Given the description of an element on the screen output the (x, y) to click on. 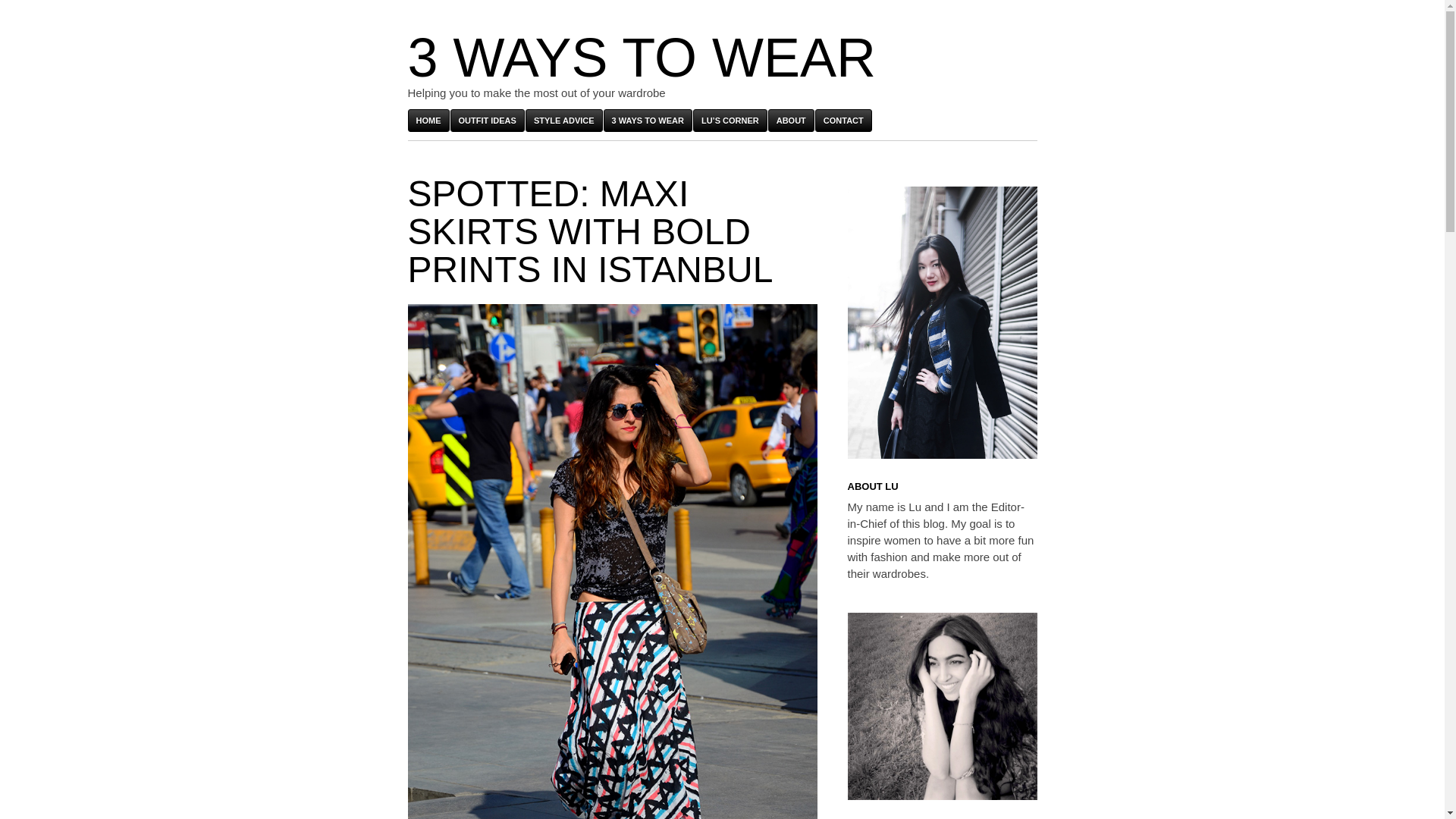
ABOUT (790, 119)
CONTACT (843, 119)
About (790, 119)
OUTFIT IDEAS (486, 119)
Rand - Fashion Editor (941, 706)
Contact (843, 119)
Real Life Inspirations (486, 119)
HOME (428, 119)
Home (428, 119)
STYLE ADVICE (563, 119)
3 WAYS TO WEAR (641, 57)
3 WAYS TO WEAR (648, 119)
3 WAYS TO WEAR (641, 57)
